Given the description of an element on the screen output the (x, y) to click on. 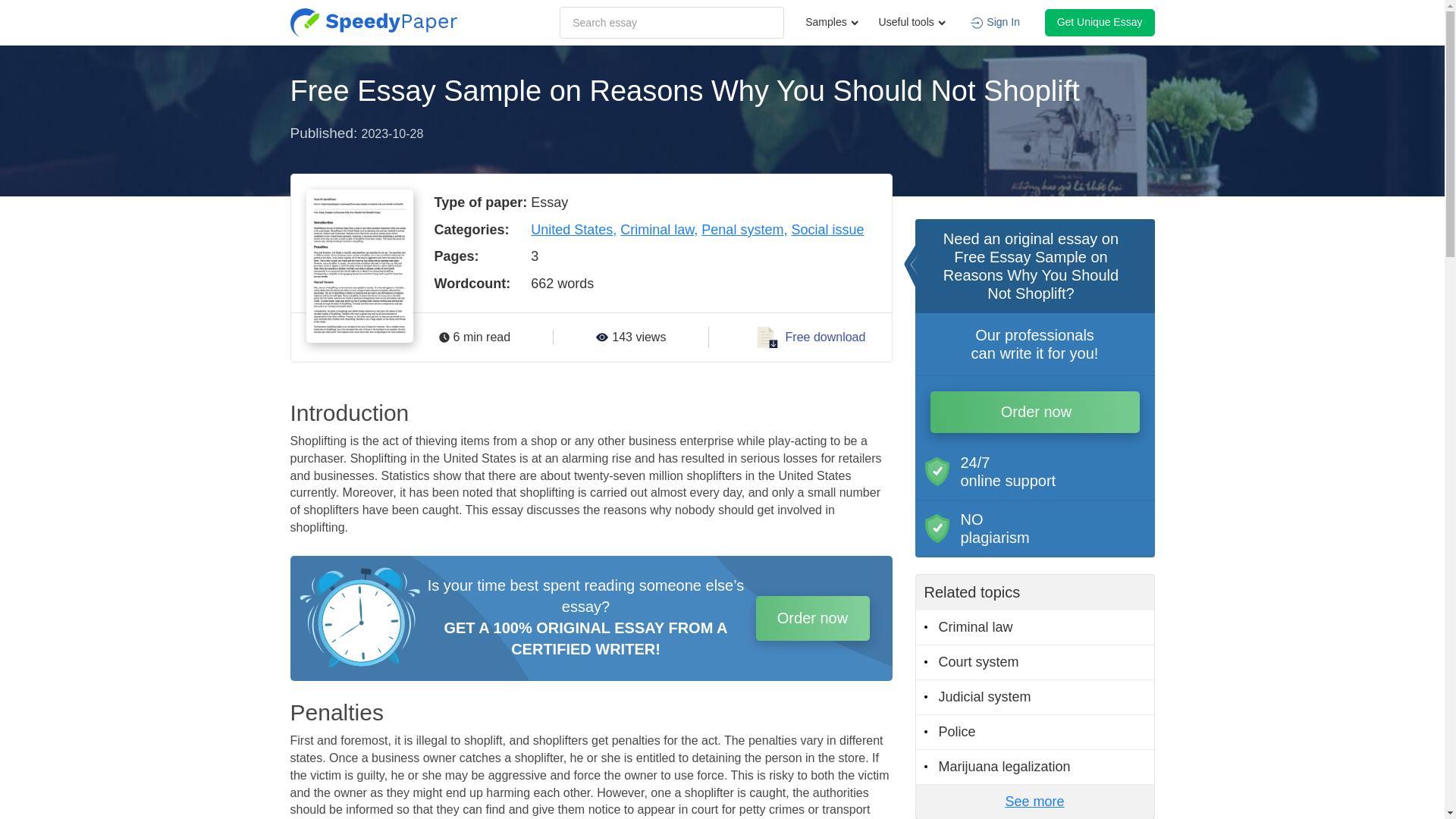
Get Unique Essay (1099, 22)
